Given the description of an element on the screen output the (x, y) to click on. 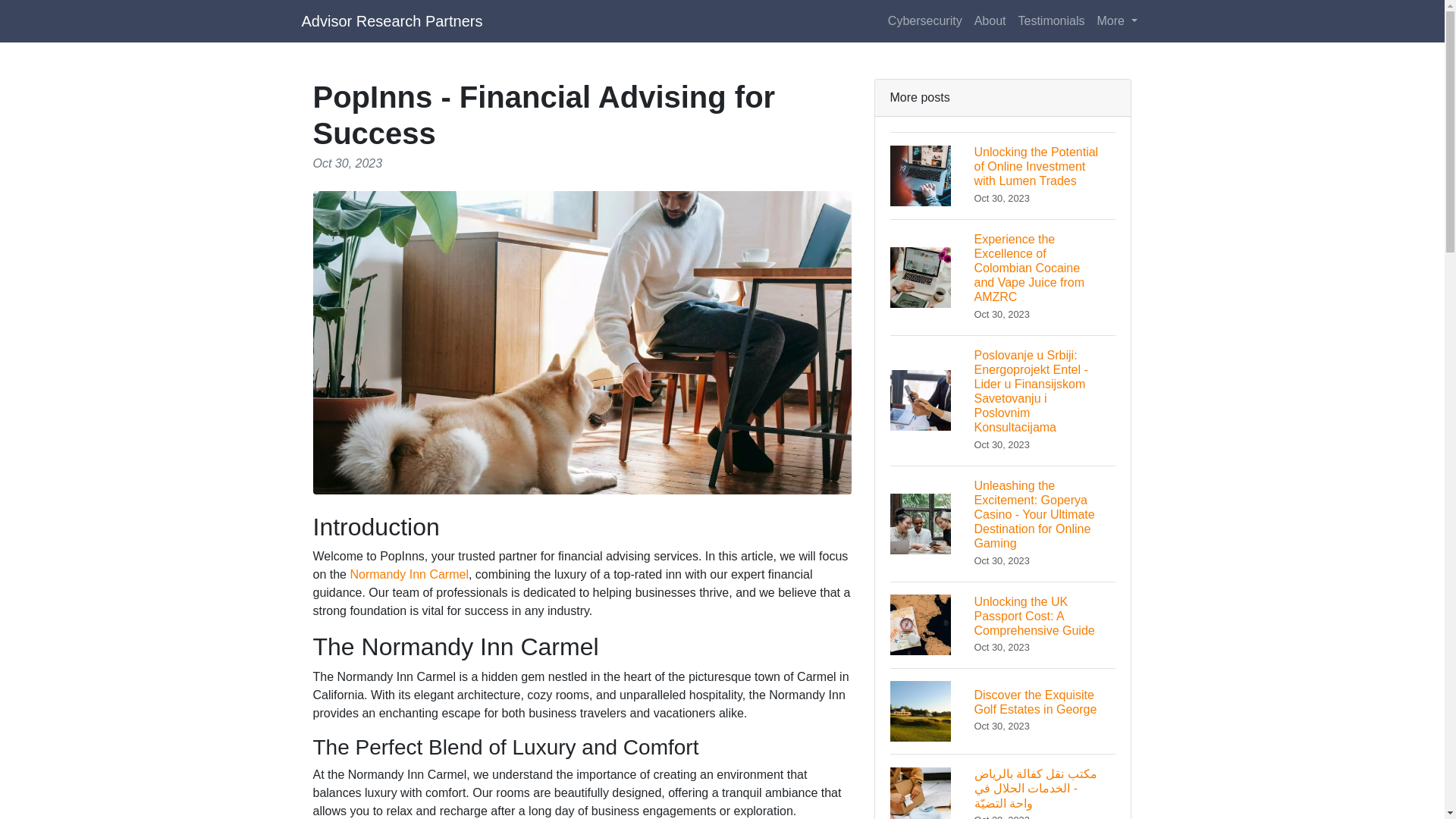
Advisor Research Partners (392, 20)
Cybersecurity (925, 20)
Testimonials (1050, 20)
About (989, 20)
Normandy Inn Carmel (408, 574)
More (1116, 20)
